Given the description of an element on the screen output the (x, y) to click on. 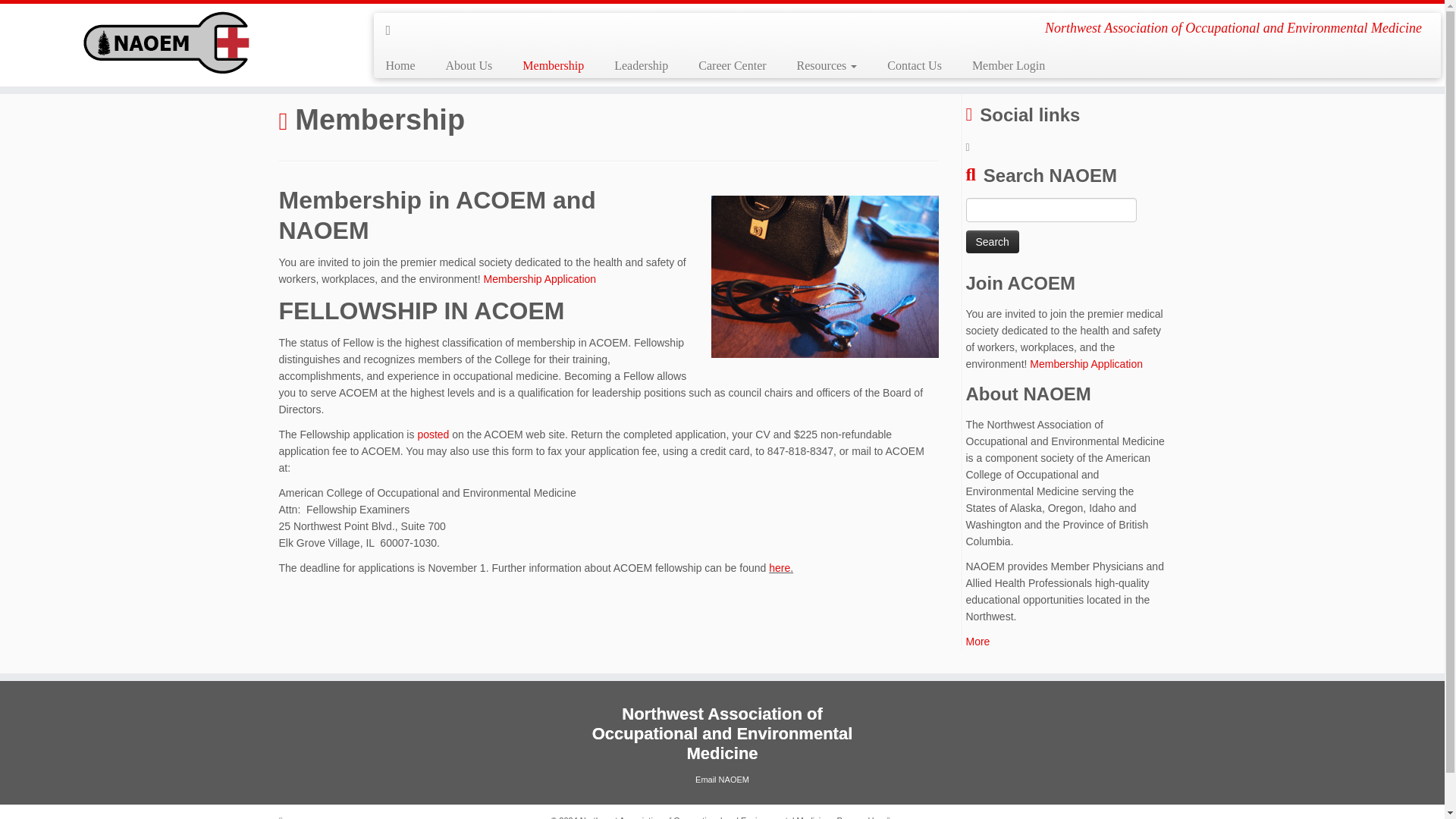
Membership Application (539, 278)
posted (432, 434)
Home (405, 65)
Membership Application (1085, 363)
About Us (469, 65)
here (779, 567)
Search (992, 241)
Resources (826, 65)
More (978, 641)
Leadership (640, 65)
